Given the description of an element on the screen output the (x, y) to click on. 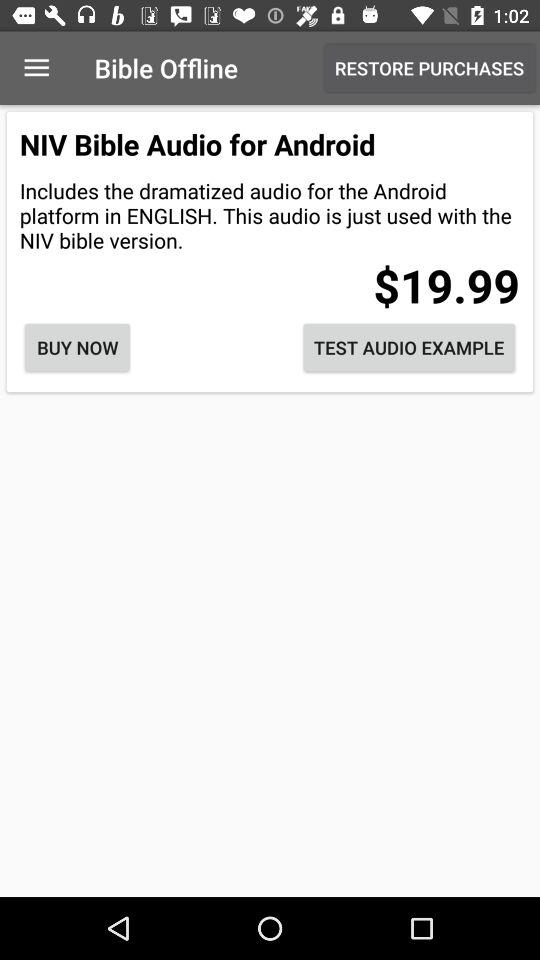
select icon on the left (77, 347)
